Given the description of an element on the screen output the (x, y) to click on. 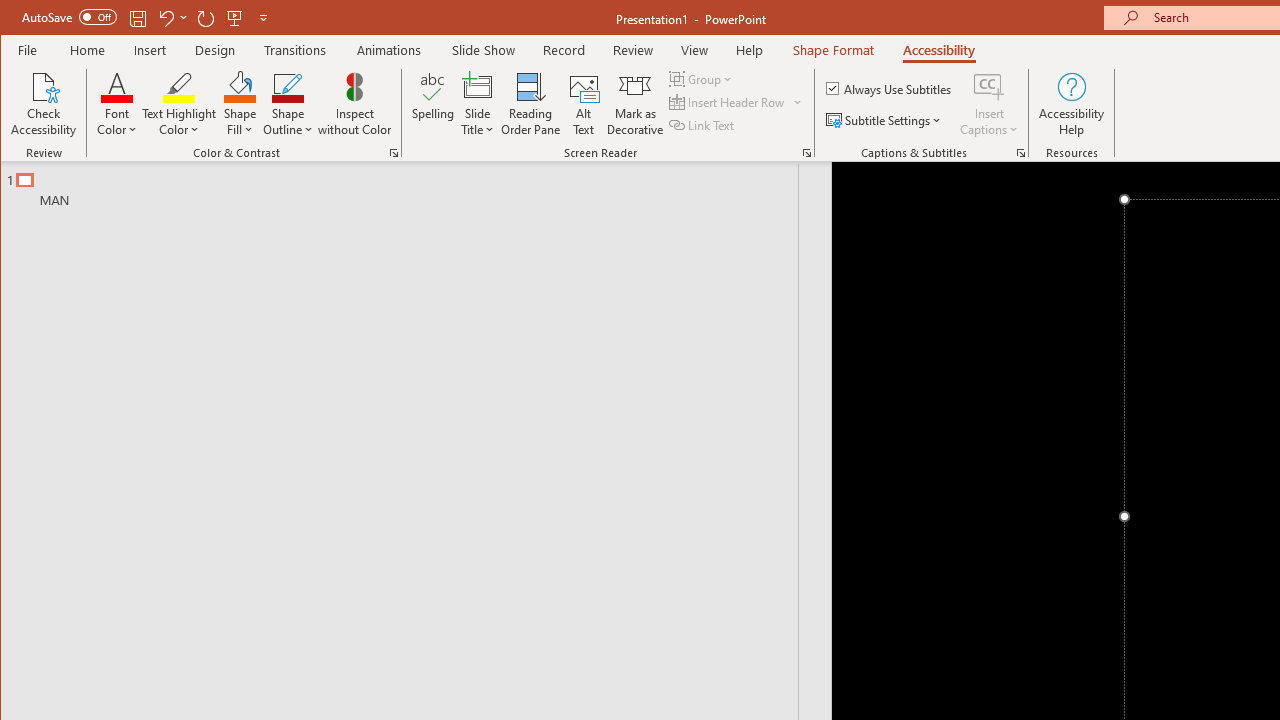
Inspect without Color (355, 104)
Insert (150, 50)
Color & Contrast (393, 152)
Font Color (116, 104)
Link Text (703, 124)
Spelling... (432, 104)
Captions & Subtitles (1020, 152)
File Tab (28, 49)
Reading Order Pane (531, 104)
Shape Outline (288, 104)
Screen Reader (806, 152)
Animations (388, 50)
Transitions (294, 50)
